Given the description of an element on the screen output the (x, y) to click on. 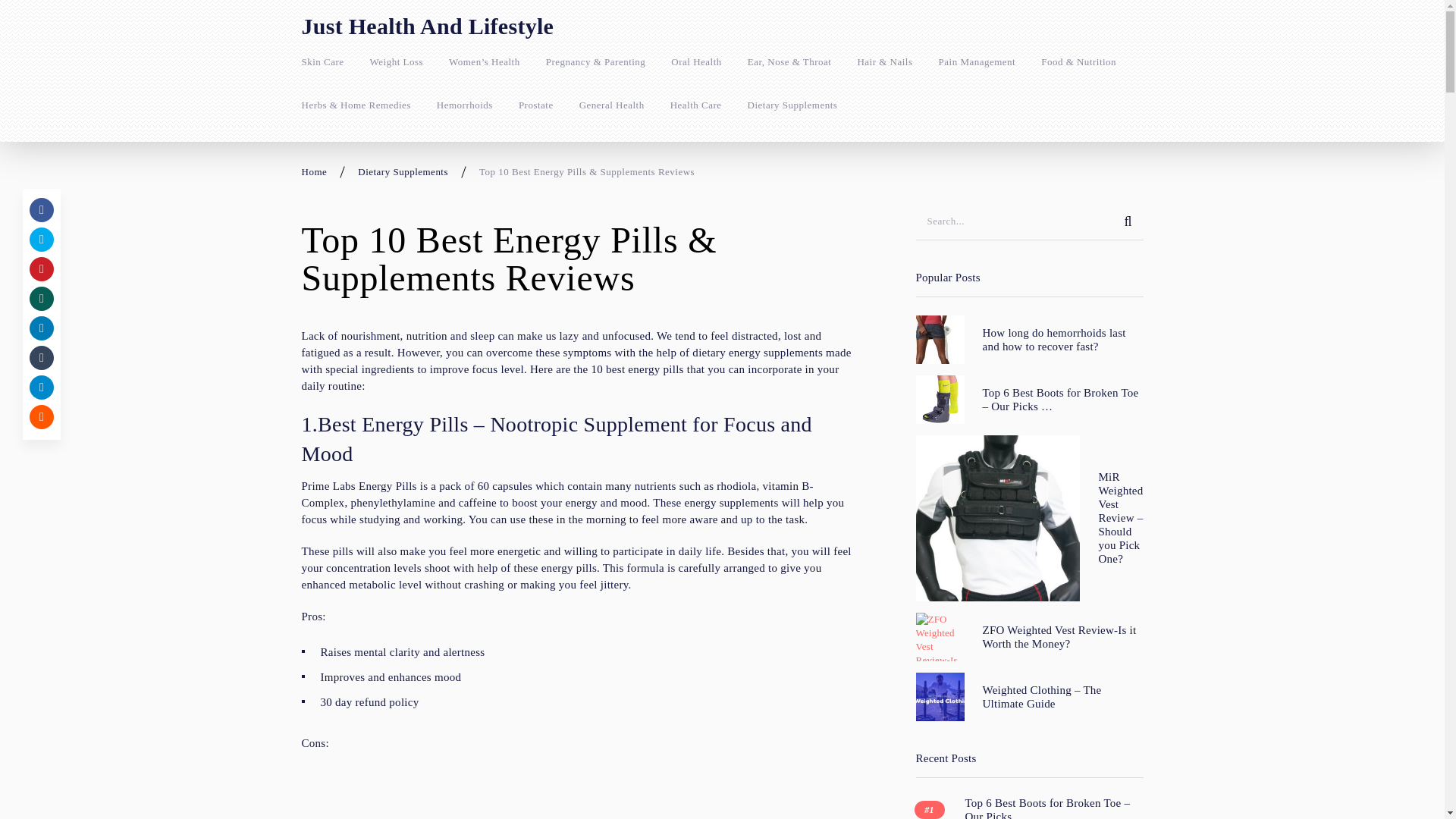
Health Care (695, 105)
Just Health And Lifestyle (427, 26)
Dietary Supplements (403, 171)
Advertisement (578, 792)
Home (314, 171)
Hemorrhoids (464, 105)
Pain Management (977, 62)
Oral Health (695, 62)
General Health (612, 105)
Prostate (535, 105)
